Given the description of an element on the screen output the (x, y) to click on. 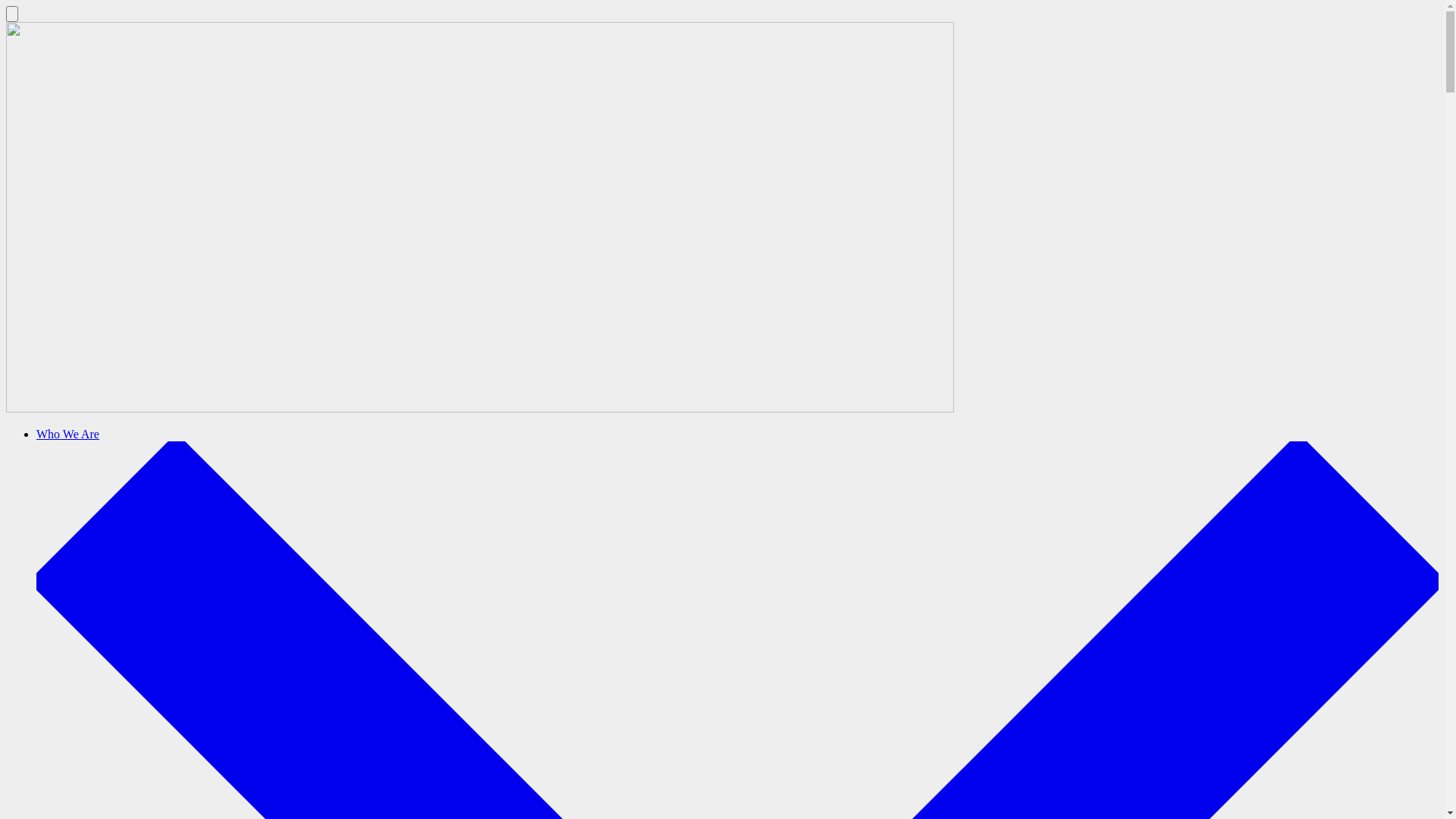
Search Toggle Element type: text (12, 13)
Skip to content Element type: text (5, 5)
